Given the description of an element on the screen output the (x, y) to click on. 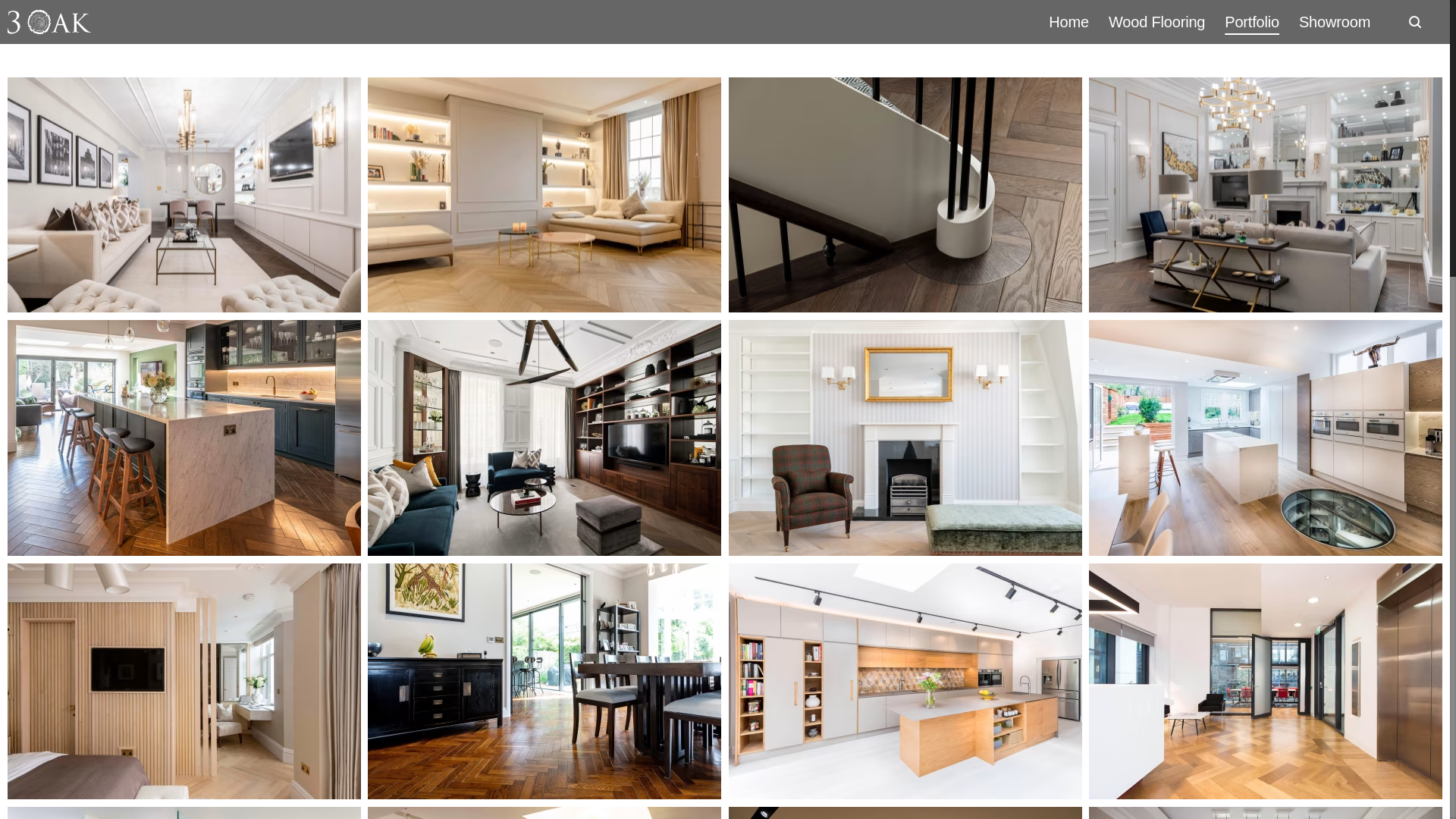
Notting Hill, W1 (905, 194)
Link to New Street, Holborn (1265, 681)
Link to London, Hampstead (1265, 438)
Marylebone, W1U (184, 681)
Link to Weybridge, Surrey (184, 438)
Link to Kensington Olympia (544, 194)
Portfolio (1251, 22)
Link to Marylebone, W1G (905, 438)
Marylebone, W1G (905, 438)
Weybridge, Surrey (184, 438)
Link to Church Vale, London (905, 681)
Portfolio (1251, 22)
Link to Portsea Place, Marylebone (184, 194)
Wood Flooring (1156, 22)
Link to Notting Hill, W1 (905, 194)
